Given the description of an element on the screen output the (x, y) to click on. 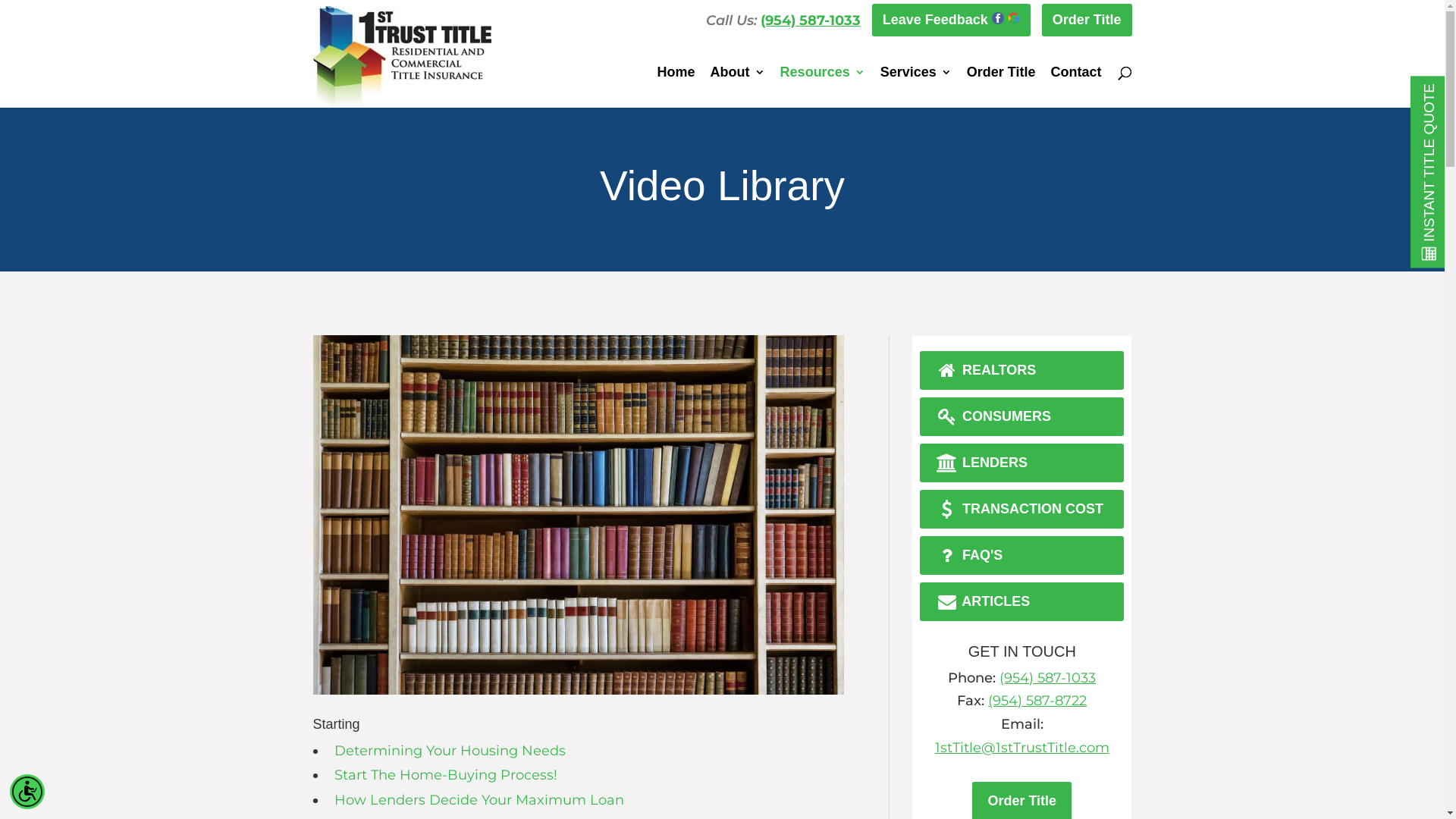
ARTICLES Element type: text (1021, 601)
(954) 587-1033 Element type: text (810, 20)
How Lenders Decide Your Maximum Loan Element type: text (478, 799)
Resources Element type: text (822, 86)
1stTitle@1stTrustTitle.com Element type: text (1022, 747)
Home Element type: text (676, 86)
LENDERS Element type: text (1021, 462)
(954) 587-8722 Element type: text (1037, 700)
Determining Your Housing Needs Element type: text (448, 750)
Services Element type: text (915, 86)
About Element type: text (737, 86)
Contact Element type: text (1076, 86)
Order Title Element type: text (1000, 86)
Order Title Element type: text (1086, 19)
TRANSACTION COST Element type: text (1021, 508)
FAQ'S Element type: text (1021, 555)
CONSUMERS Element type: text (1021, 416)
Start The Home-Buying Process! Element type: text (444, 774)
Leave Feedback Element type: text (951, 19)
REALTORS Element type: text (1021, 370)
(954) 587-1033 Element type: text (1047, 677)
